Given the description of an element on the screen output the (x, y) to click on. 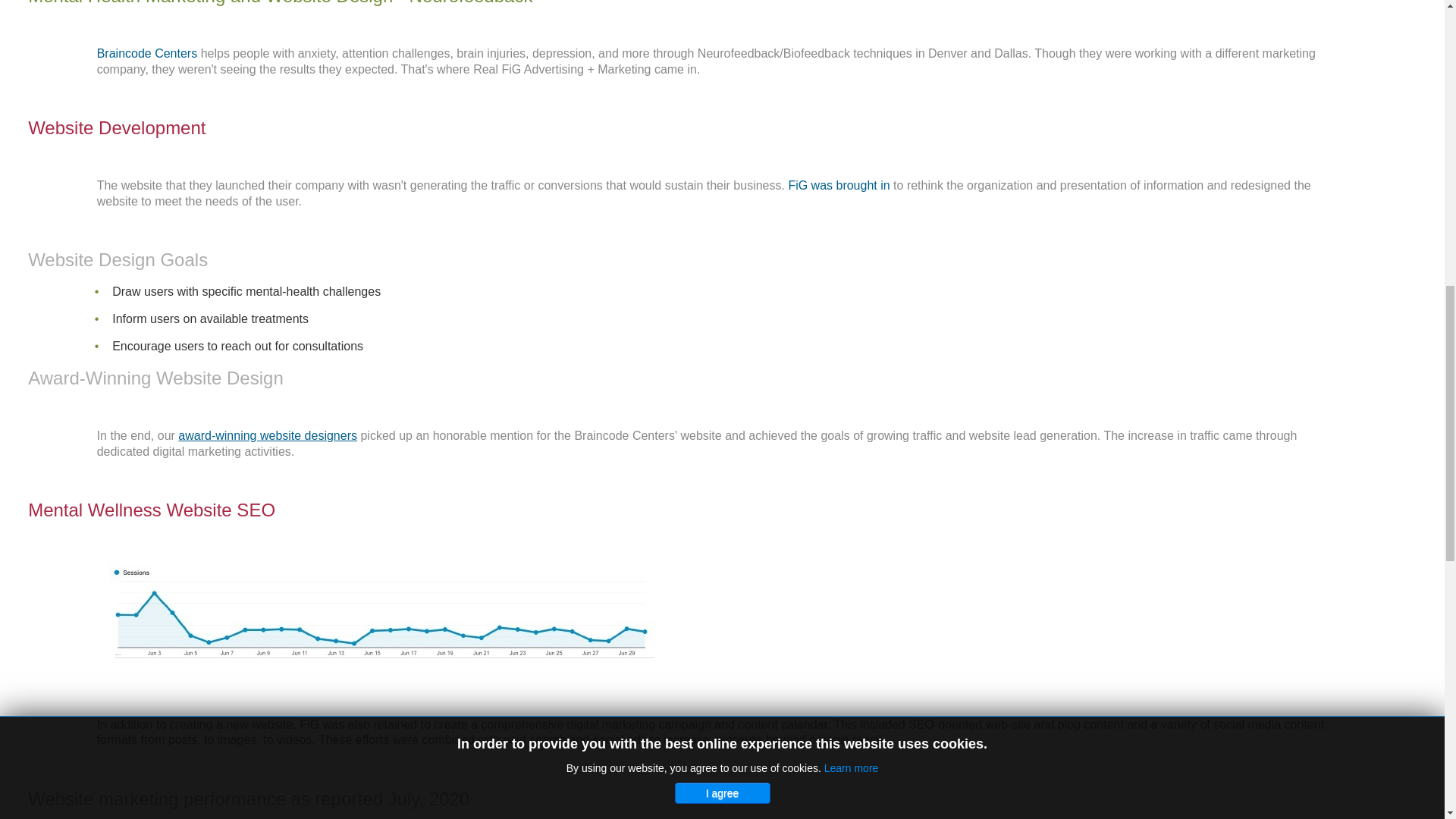
Braincode Centers Neurofeedback Website (147, 52)
FiG was brought in (838, 185)
Marcom-Award-Winning (266, 435)
Braincode Centers (147, 52)
award-winning website designers (266, 435)
mental health website design (838, 185)
